Given the description of an element on the screen output the (x, y) to click on. 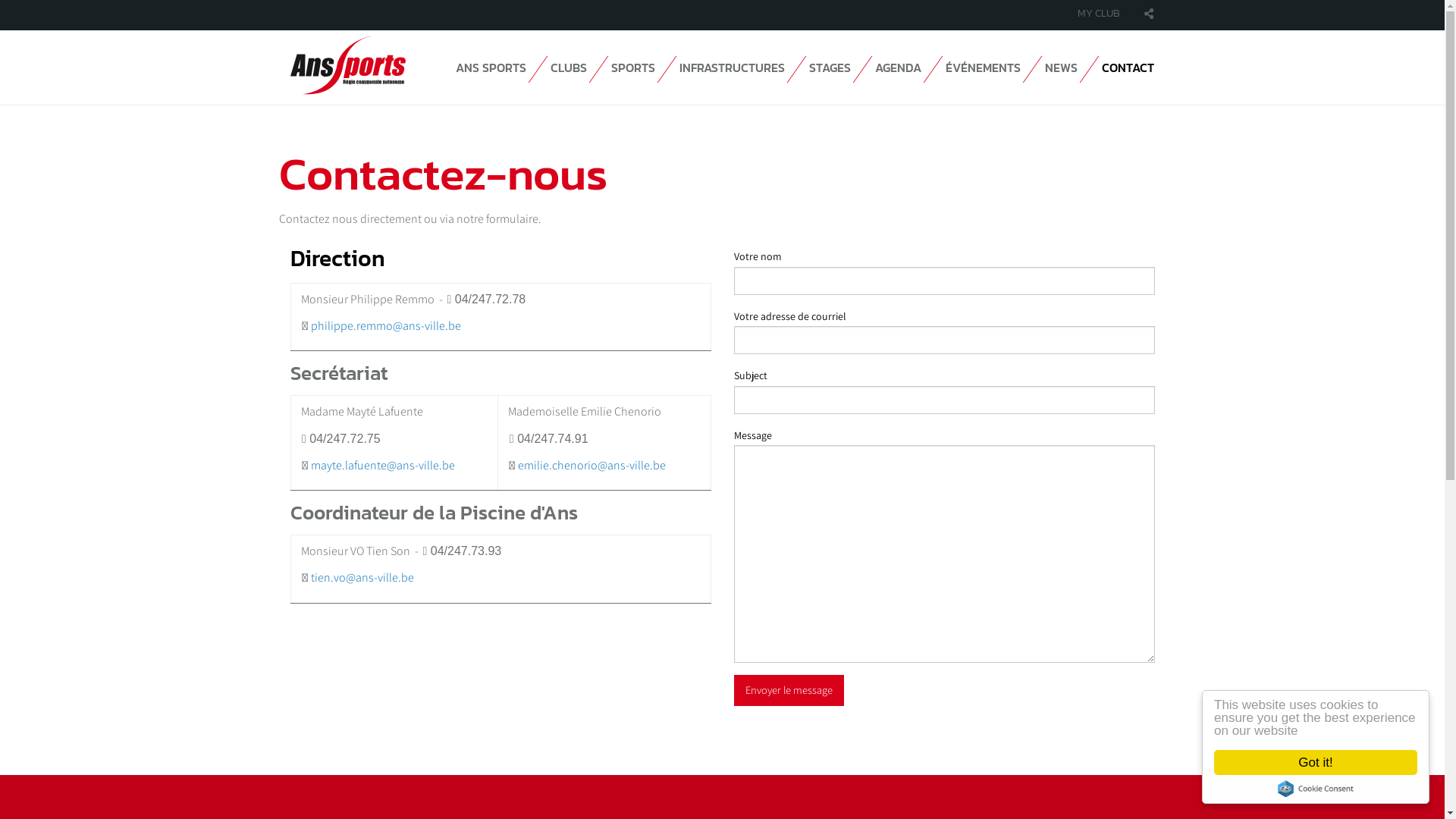
emilie.chenorio@ans-ville.be Element type: text (591, 465)
ien.vo@ans-ville.be Element type: text (363, 577)
CONTACT Element type: text (1126, 67)
Accueil Element type: hover (346, 64)
SPORTS Element type: text (633, 67)
Cookie Consent plugin for the EU cookie law Element type: text (1315, 788)
Got it! Element type: text (1315, 762)
STAGES Element type: text (829, 67)
AGENDA Element type: text (897, 67)
INFRASTRUCTURES Element type: text (732, 67)
t Element type: text (312, 577)
ANS SPORTS Element type: text (489, 67)
MY CLUB Element type: text (1098, 13)
mayte.lafuente@ans-ville.be Element type: text (382, 465)
Envoyer le message Element type: text (789, 690)
CLUBS Element type: text (568, 67)
NEWS Element type: text (1060, 67)
Aller au contenu principal Element type: text (0, 0)
philippe.remmo@ans-ville.be Element type: text (385, 325)
